Given the description of an element on the screen output the (x, y) to click on. 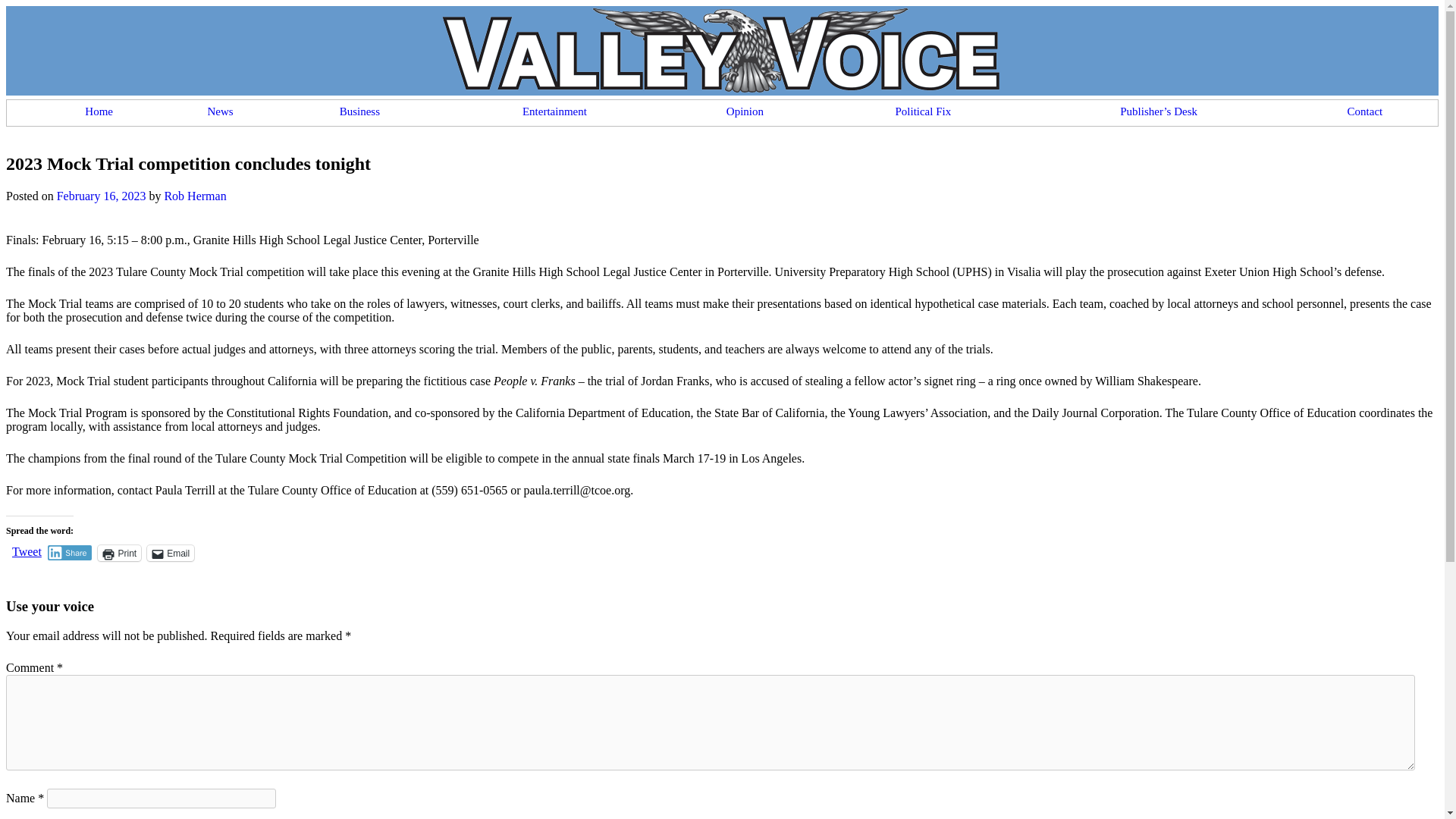
Email (170, 553)
Share (70, 552)
Political Fix (923, 108)
Search (25, 9)
Entertainment (554, 108)
Rob Herman (194, 195)
Tweet (26, 551)
Click to print (119, 553)
February 16, 2023 (101, 195)
